Given the description of an element on the screen output the (x, y) to click on. 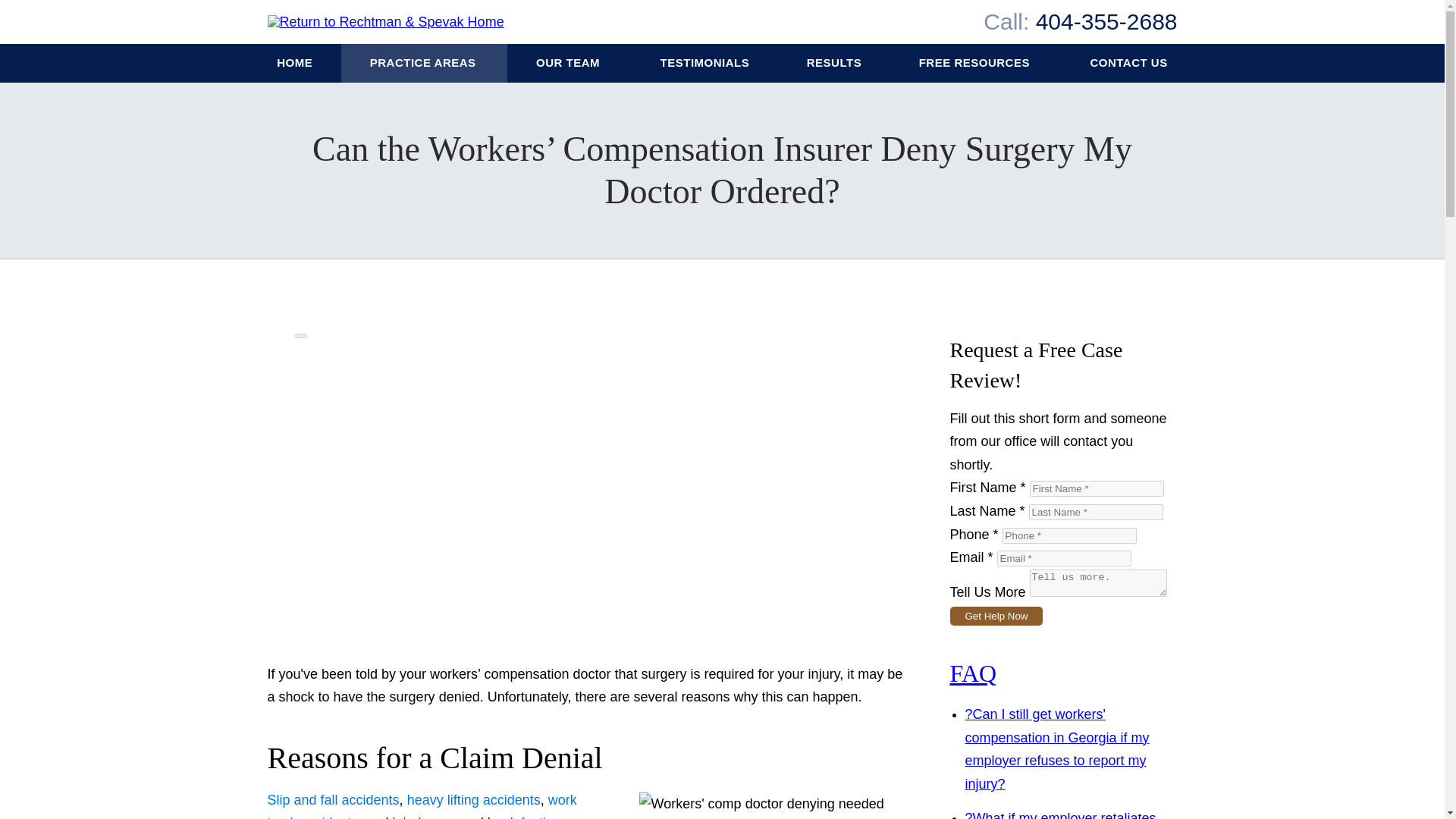
FREE RESOURCES (975, 63)
HOME (295, 63)
OUR TEAM (568, 63)
TESTIMONIALS (704, 63)
RESULTS (833, 63)
PRACTICE AREAS (423, 63)
